Given the description of an element on the screen output the (x, y) to click on. 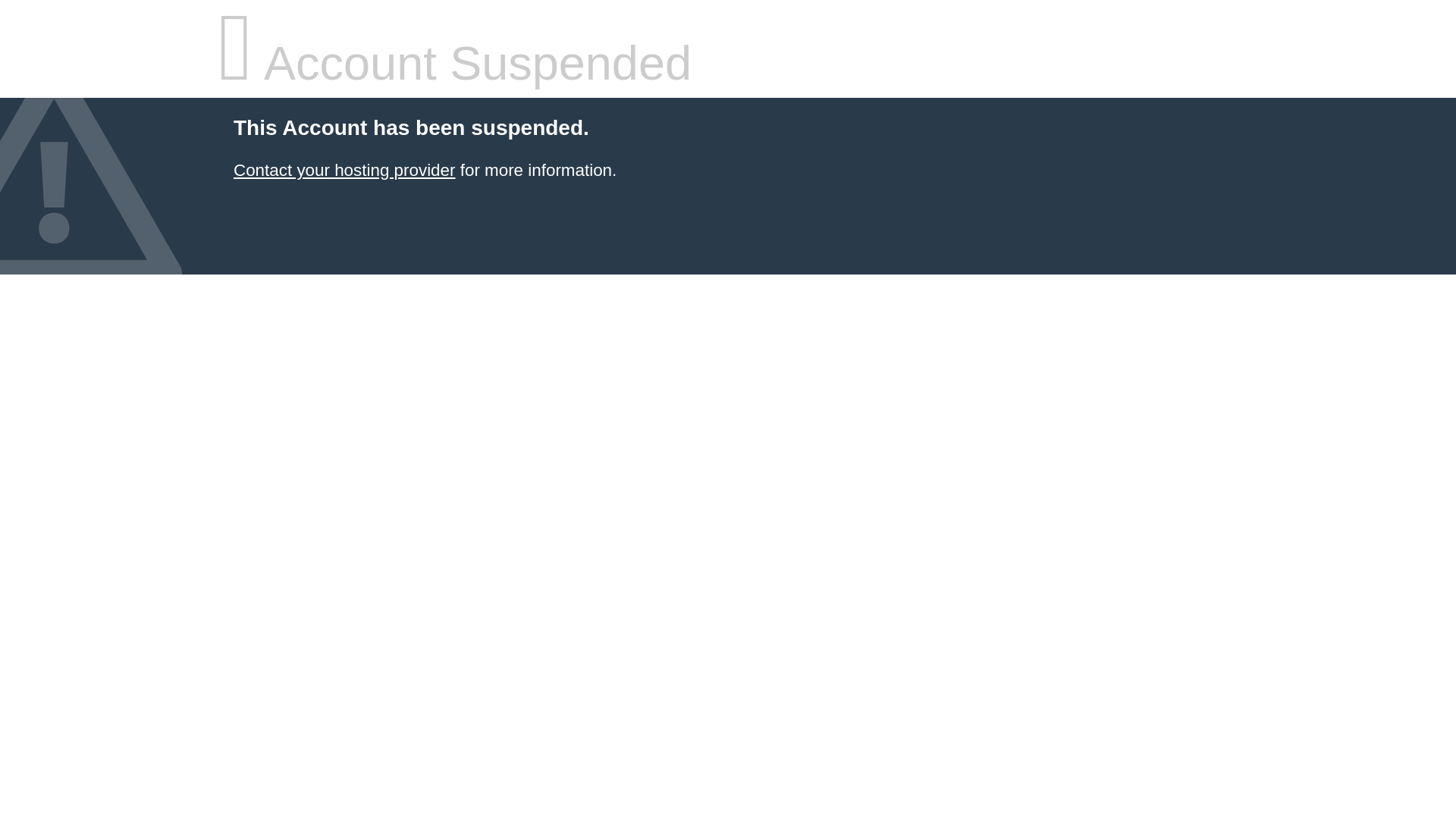
Contact your hosting provider (343, 169)
